Given the description of an element on the screen output the (x, y) to click on. 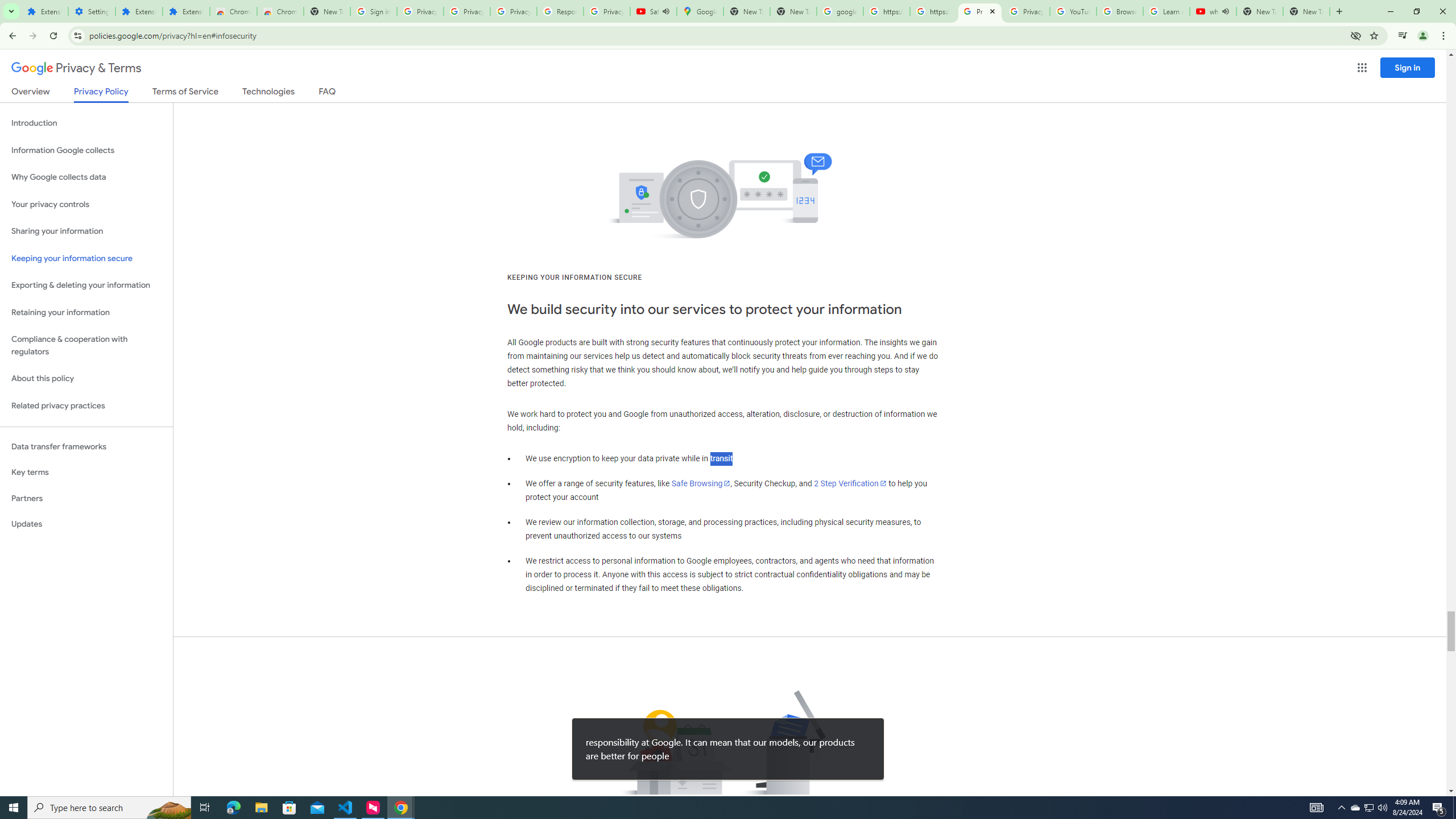
Compliance & cooperation with regulators (86, 345)
https://scholar.google.com/ (933, 11)
Extensions (186, 11)
https://scholar.google.com/ (886, 11)
